Given the description of an element on the screen output the (x, y) to click on. 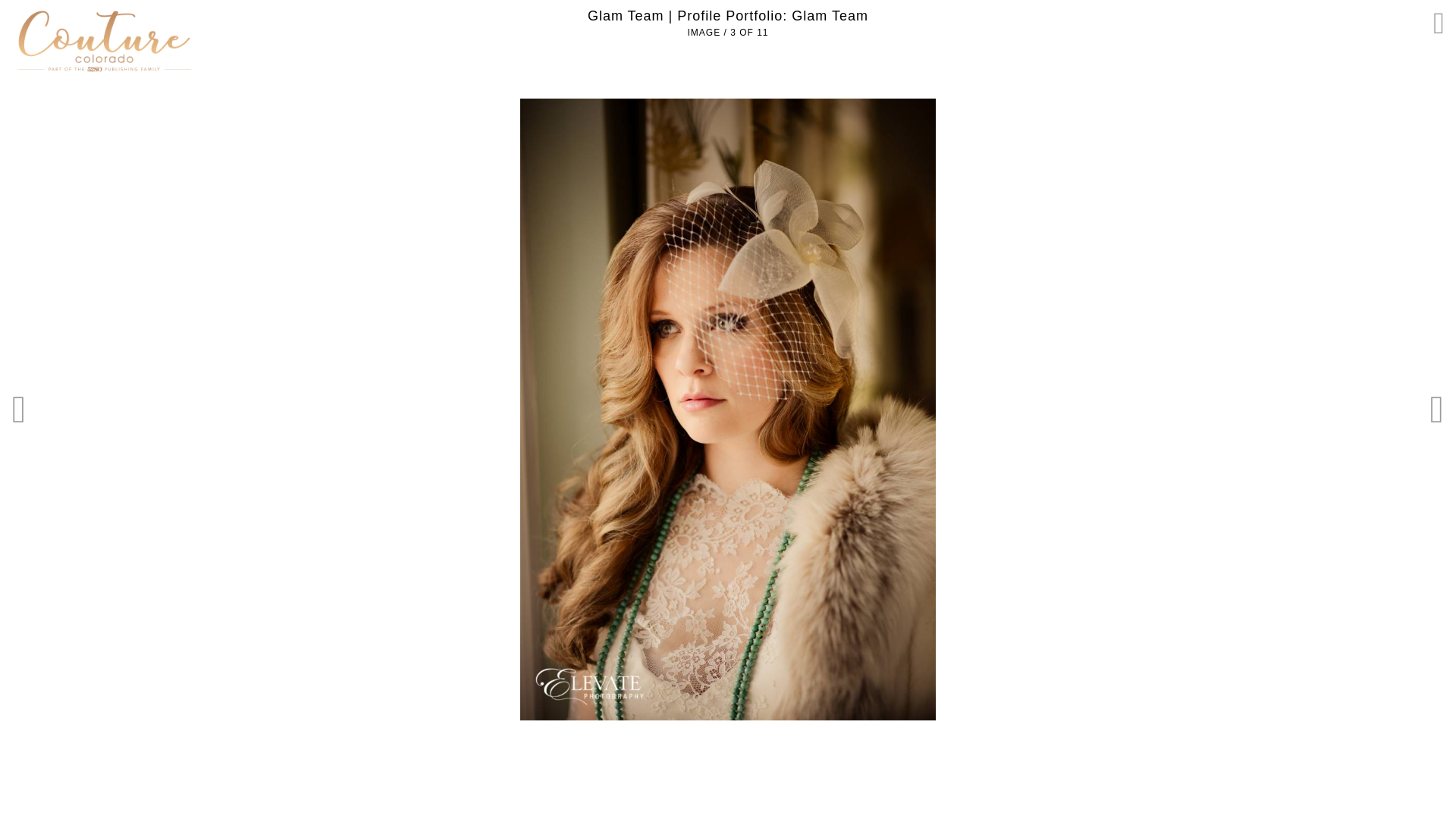
5280 - DENVER'S MILE HIGH MAGAZINE (260, 9)
GALLERIES (896, 156)
INSPIRATION (678, 156)
SIGN-IN (1374, 19)
VENDOR GUIDE (572, 156)
REAL WEDDINGS (790, 156)
SUBMISSIONS (44, 9)
SIGN UP (1424, 19)
ADVERTISING (122, 9)
